Given the description of an element on the screen output the (x, y) to click on. 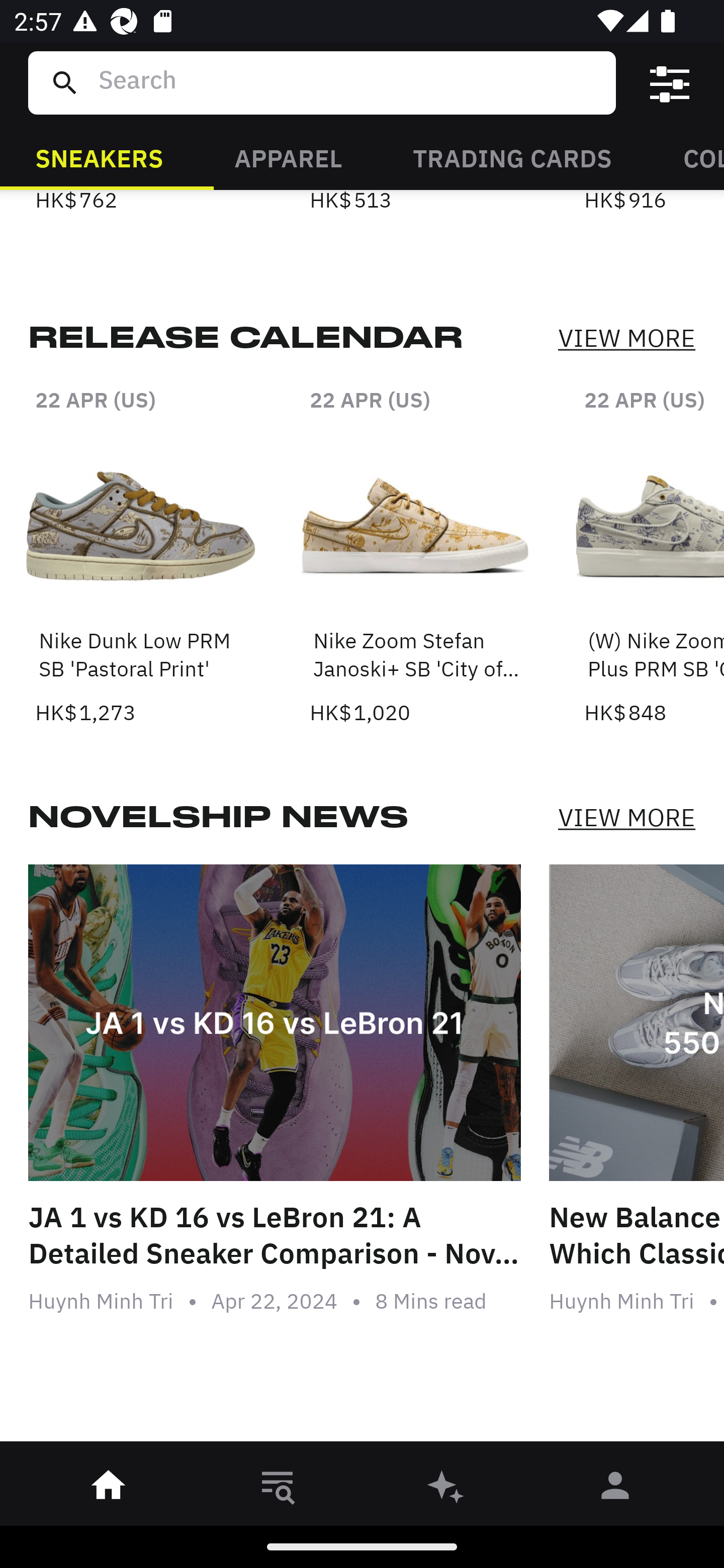
Search (349, 82)
 (669, 82)
SNEAKERS (99, 156)
APPAREL (287, 156)
TRADING CARDS (512, 156)
VIEW MORE (626, 338)
VIEW MORE (626, 816)
󰋜 (108, 1488)
󱎸 (277, 1488)
󰫢 (446, 1488)
󰀄 (615, 1488)
